Given the description of an element on the screen output the (x, y) to click on. 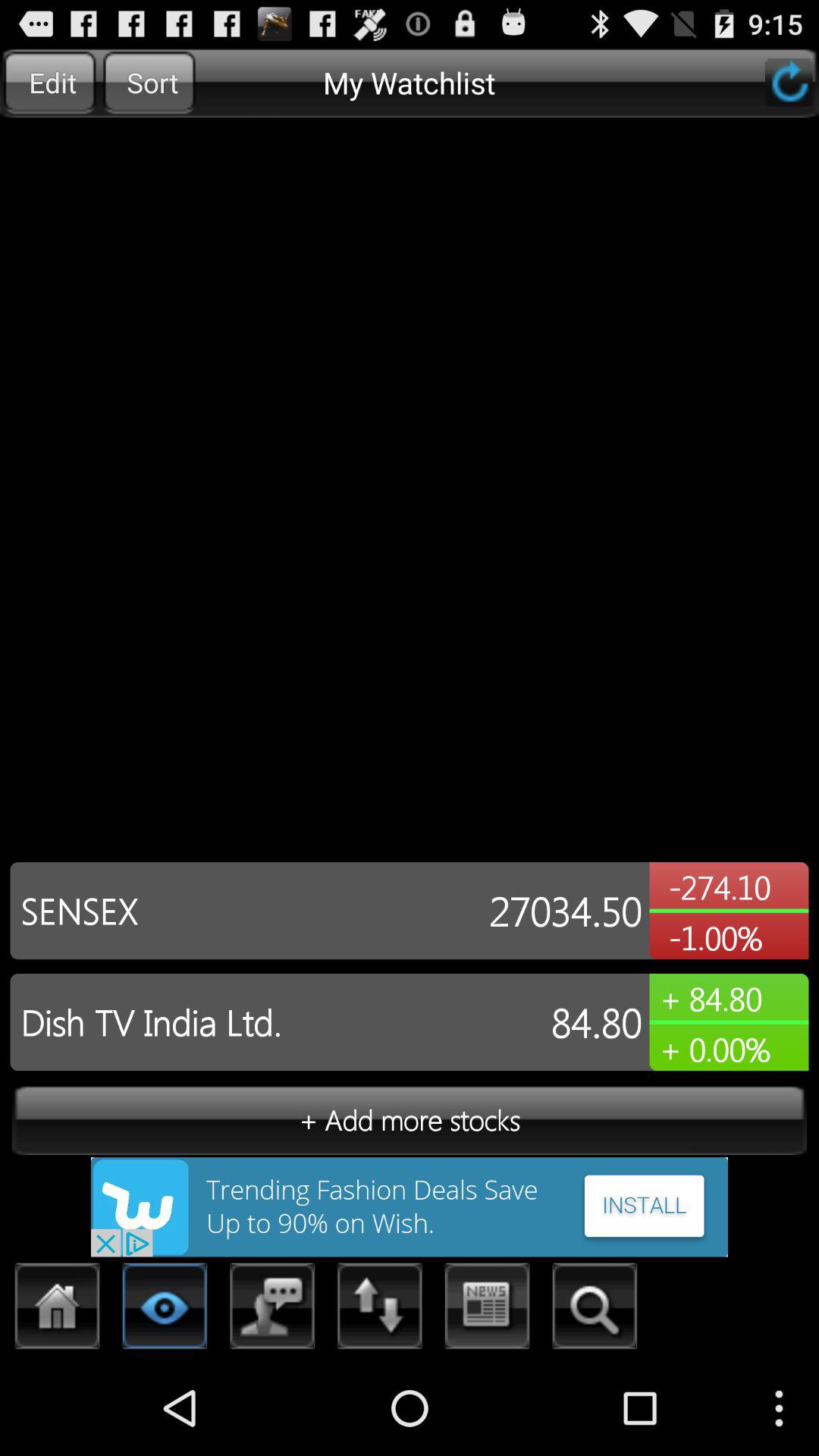
go to advertisement (409, 1206)
